Given the description of an element on the screen output the (x, y) to click on. 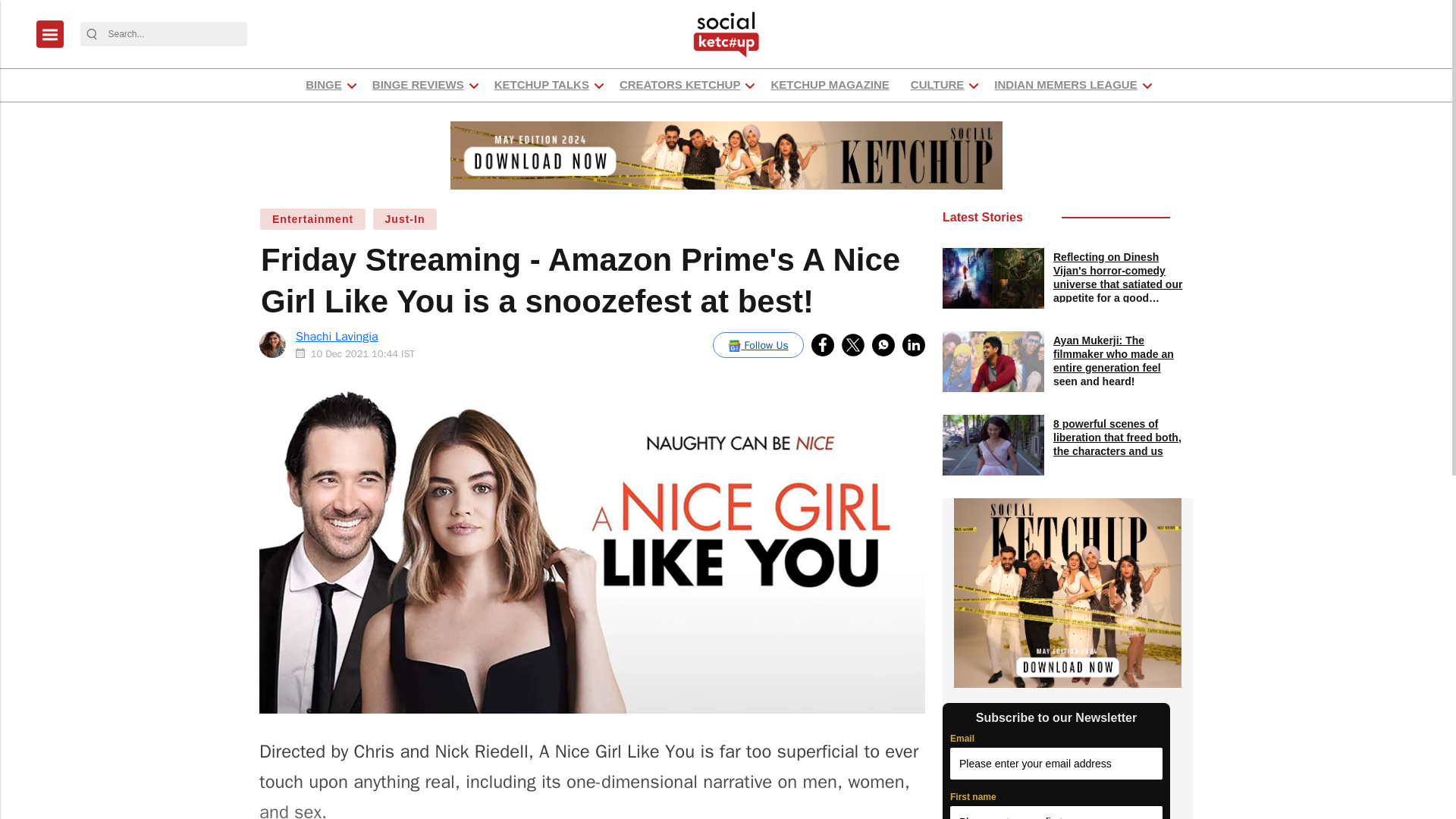
KETCHUP TALKS (541, 84)
INDIAN MEMERS LEAGUE (1064, 84)
CULTURE (937, 84)
CREATORS KETCHUP (679, 84)
BINGE REVIEWS (417, 84)
KETCHUP MAGAZINE (829, 84)
BINGE (323, 84)
